Given the description of an element on the screen output the (x, y) to click on. 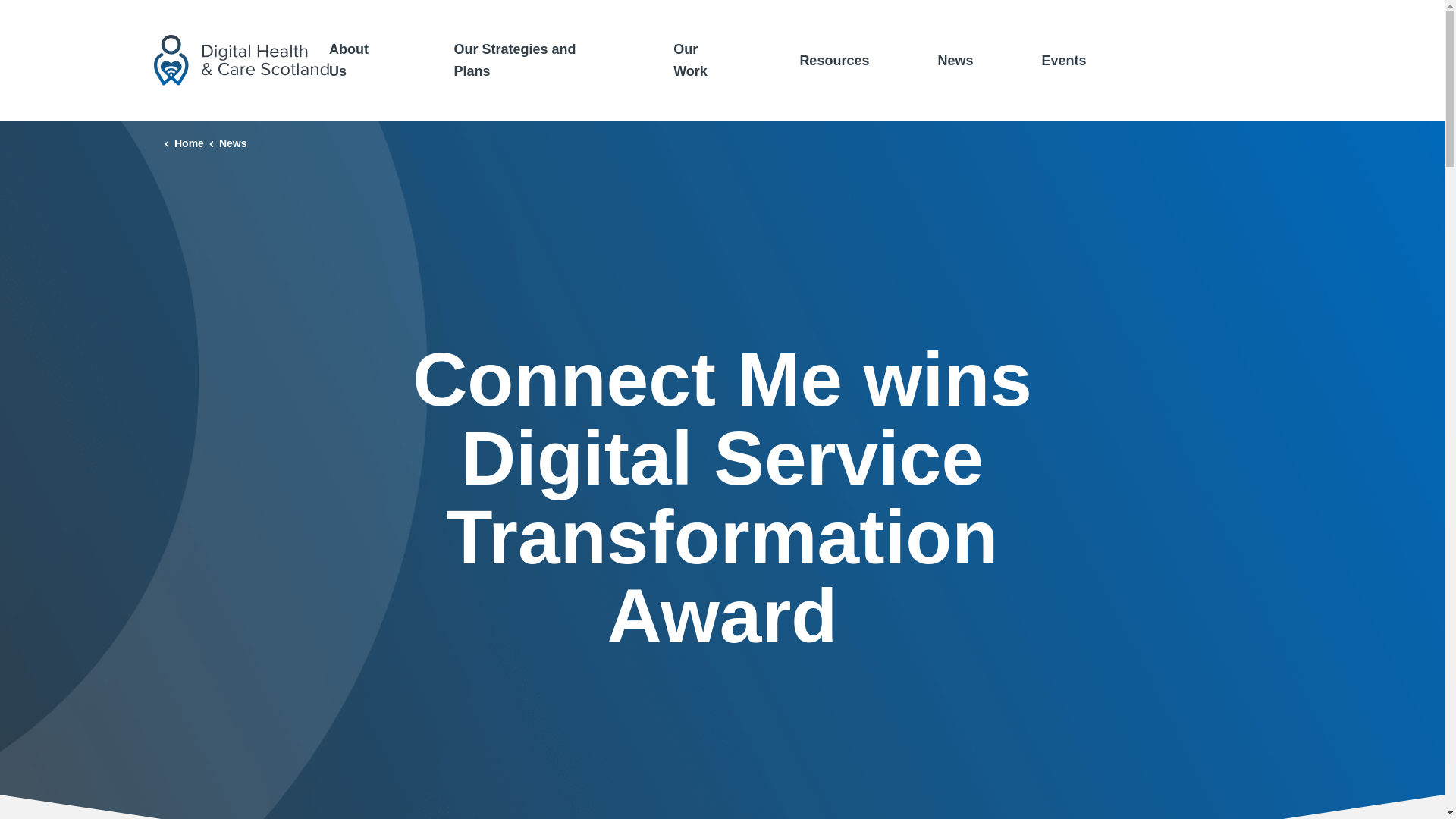
Our Strategies and Plans (529, 60)
